Given the description of an element on the screen output the (x, y) to click on. 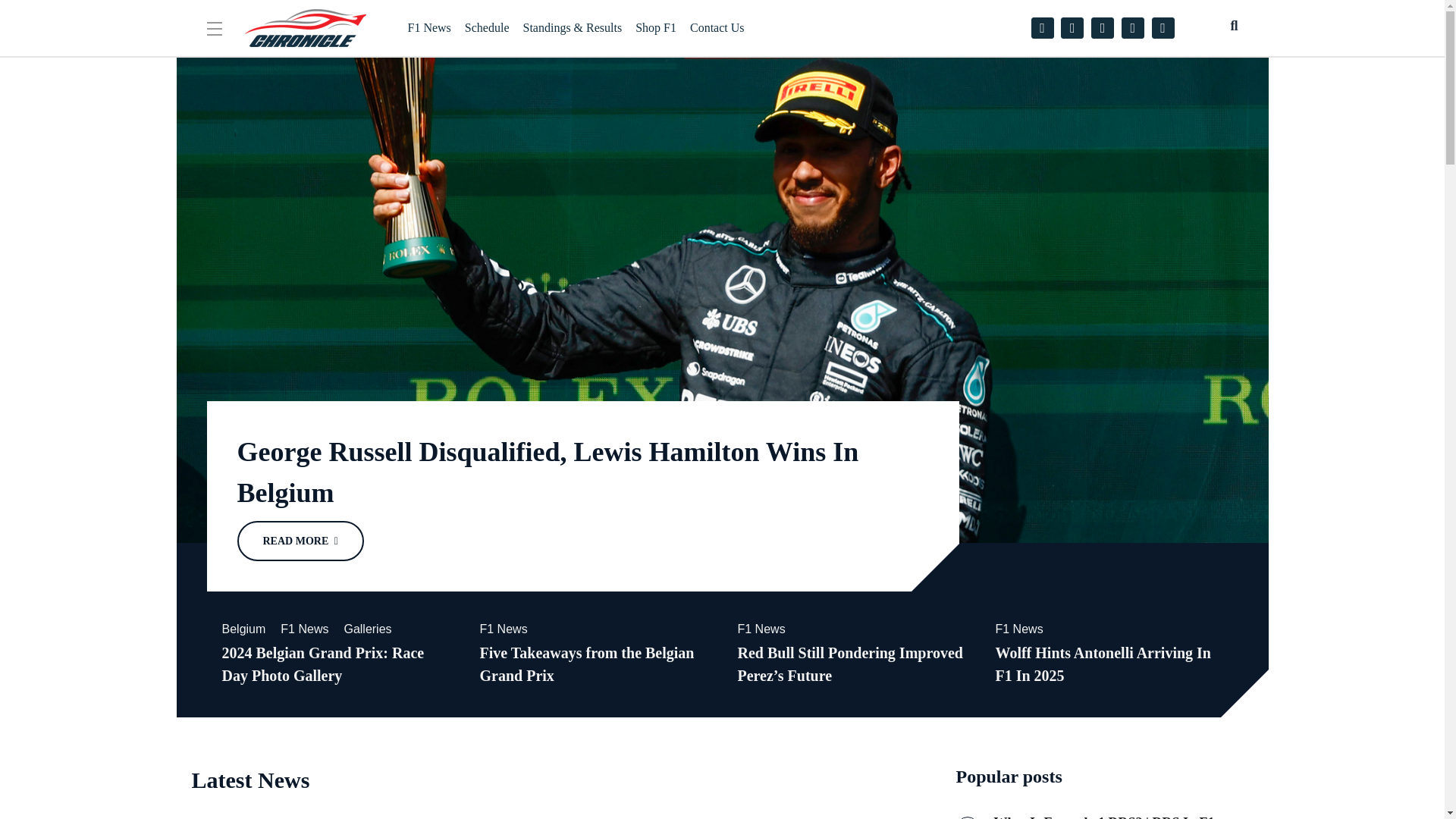
uabb-menu-toggle (213, 29)
